Given the description of an element on the screen output the (x, y) to click on. 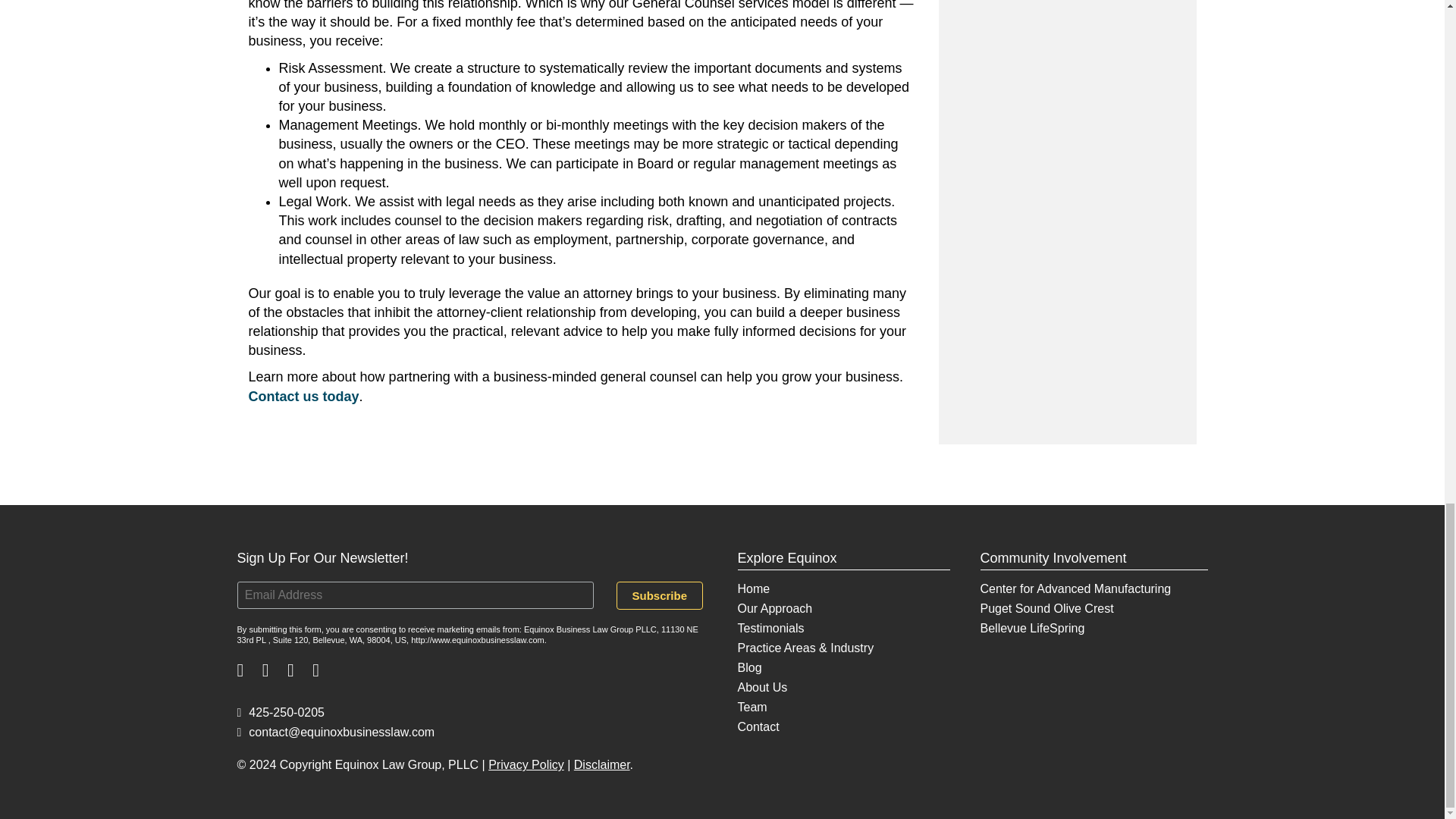
425-250-0205 (279, 712)
Home (753, 588)
Disclaimer (601, 764)
Our Approach (774, 608)
Contact us today (303, 396)
Privacy Policy (525, 764)
Subscribe (659, 595)
Subscribe (659, 595)
